Given the description of an element on the screen output the (x, y) to click on. 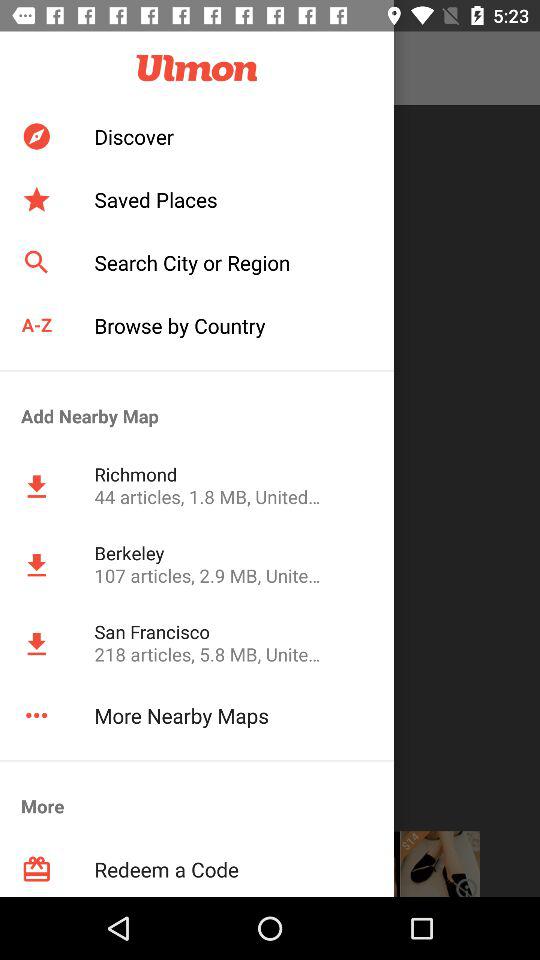
click the three dots button above the more on the web page (36, 714)
select the icon on left to the discover button on the web page (36, 135)
click on the icon below more (36, 869)
click on the third download button (36, 644)
click on icon next to saved places (36, 199)
